Given the description of an element on the screen output the (x, y) to click on. 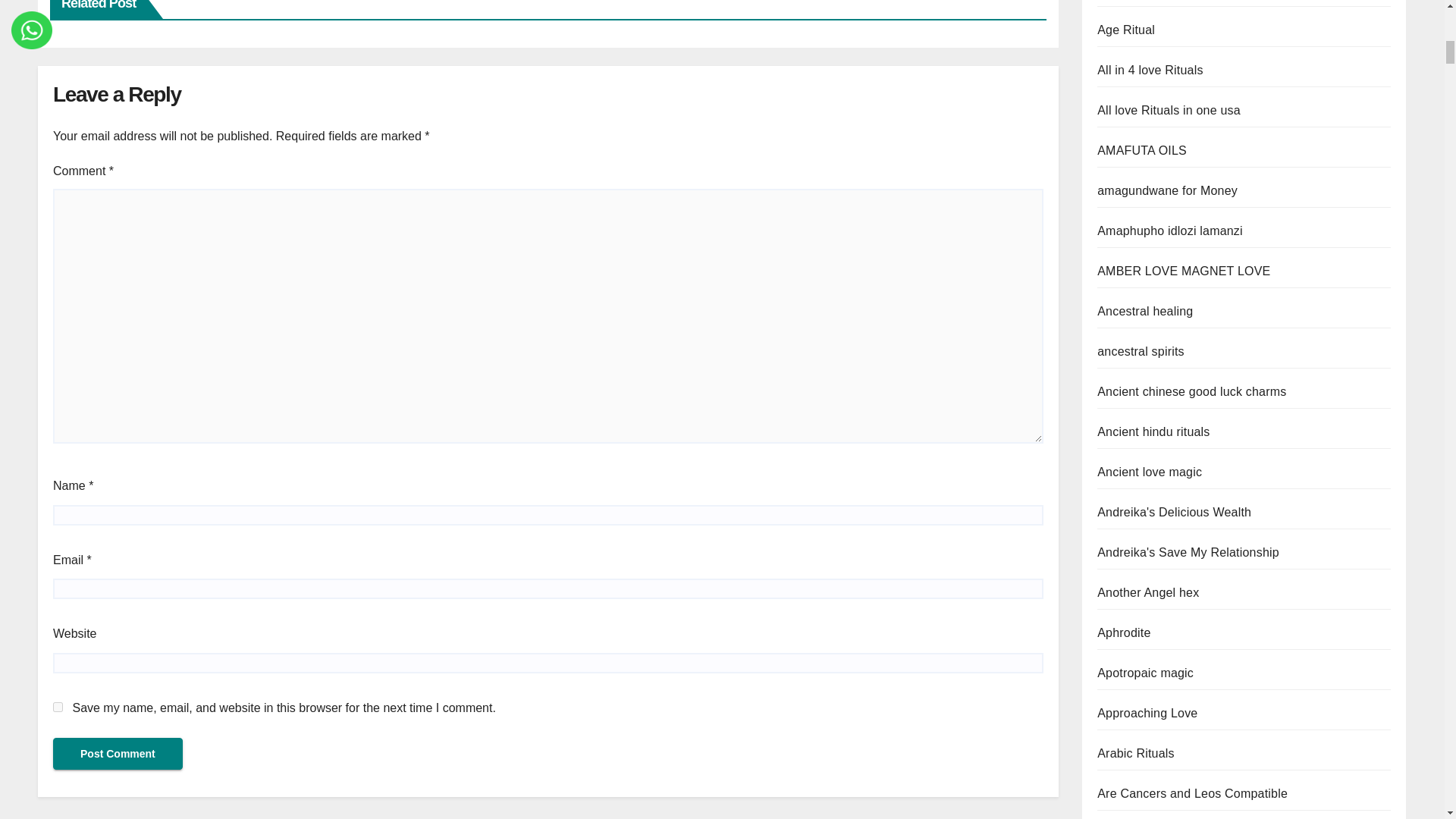
yes (57, 706)
Post Comment (117, 753)
